Given the description of an element on the screen output the (x, y) to click on. 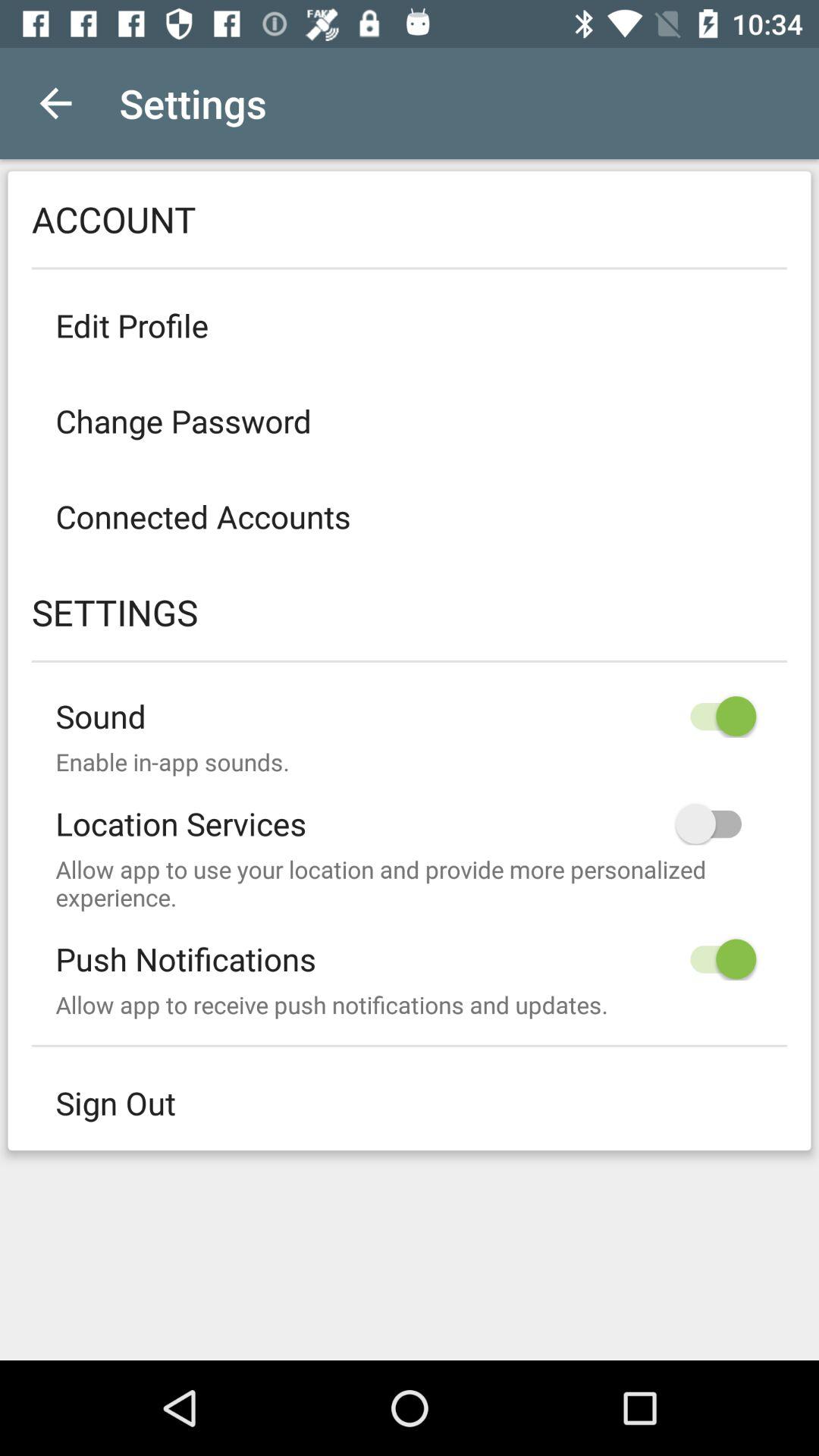
flip to the sign out item (409, 1102)
